Given the description of an element on the screen output the (x, y) to click on. 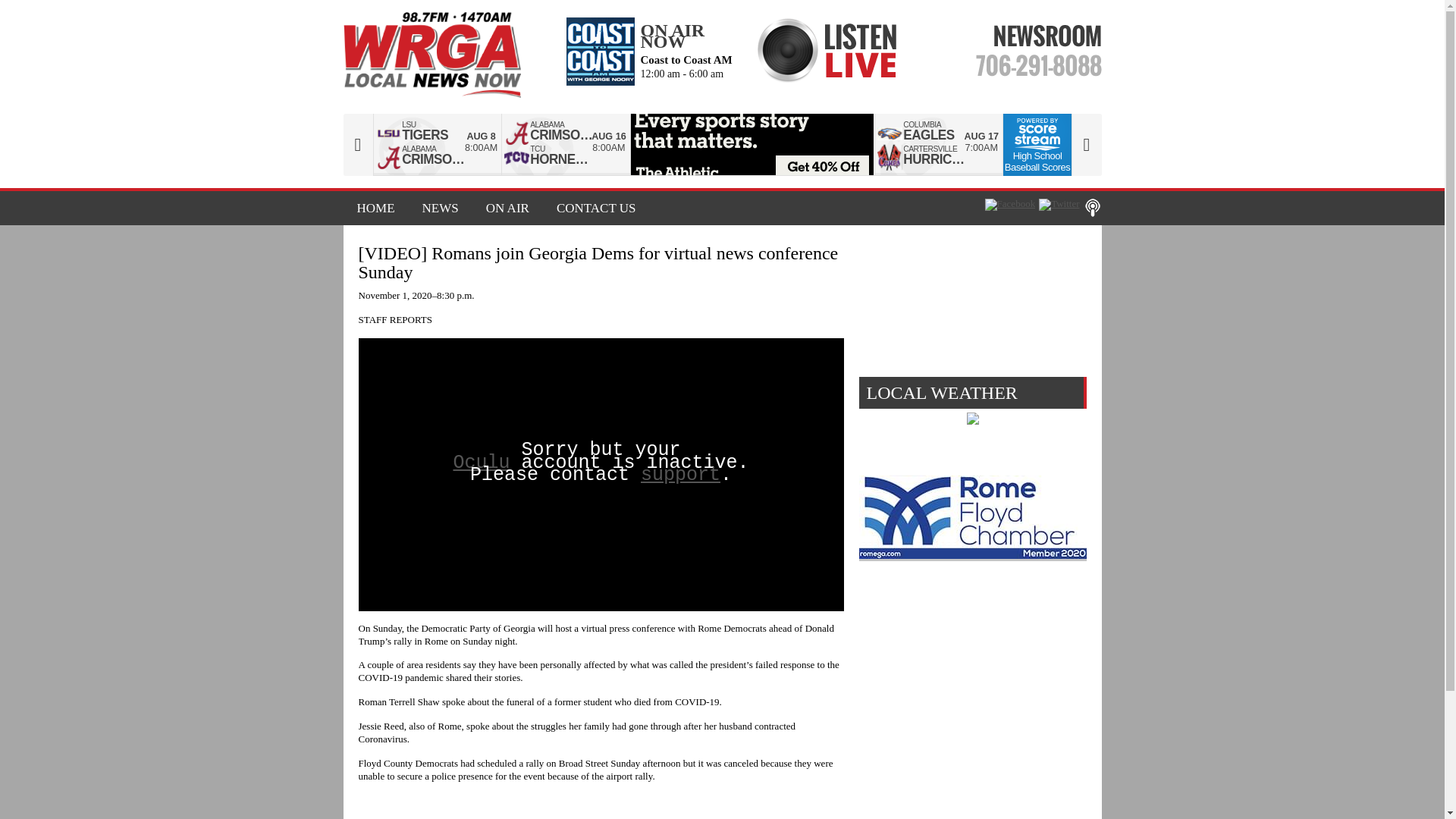
Podcasts (1091, 208)
Twitter (1058, 204)
CONTACT US (589, 207)
ON AIR (507, 207)
Oculu (480, 463)
Facebook (1010, 204)
HOME (374, 207)
NEWS (440, 207)
support (680, 475)
